Given the description of an element on the screen output the (x, y) to click on. 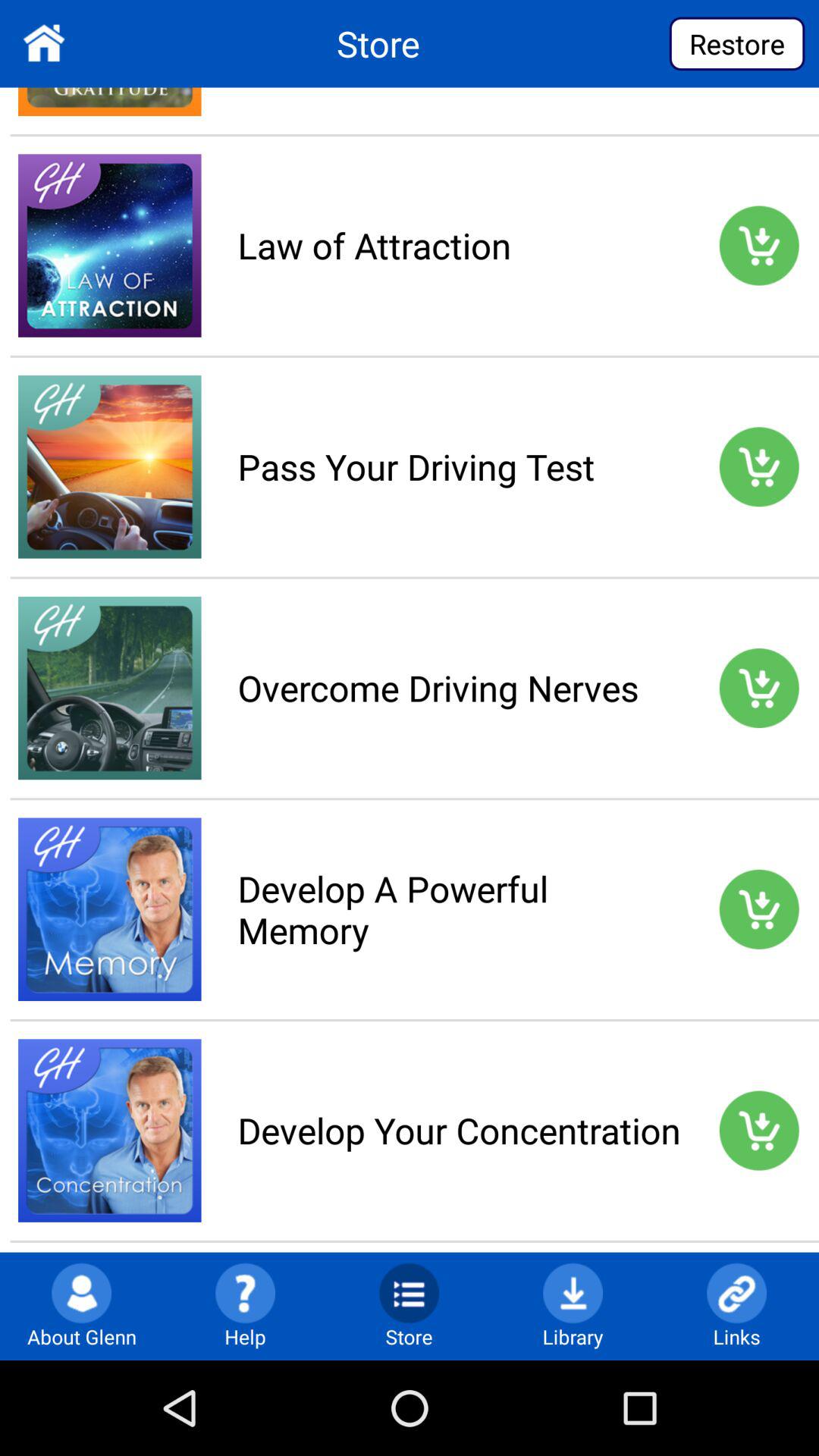
turn off the develop a powerful (459, 909)
